Given the description of an element on the screen output the (x, y) to click on. 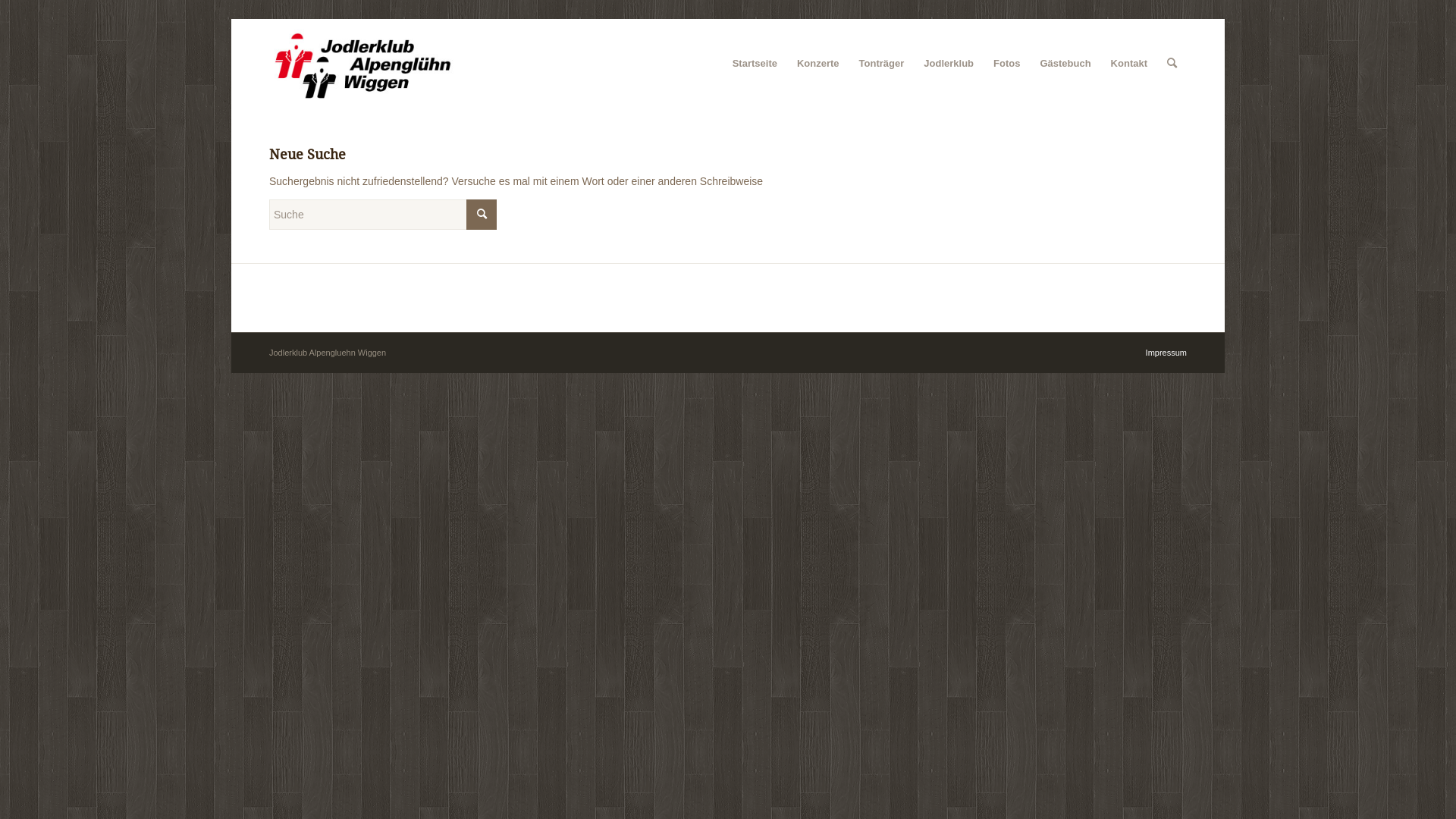
Fotos Element type: text (1006, 63)
Impressum Element type: text (1165, 352)
Konzerte Element type: text (818, 63)
Startseite Element type: text (754, 63)
Kontakt Element type: text (1129, 63)
Jodlerklub Element type: text (948, 63)
